Given the description of an element on the screen output the (x, y) to click on. 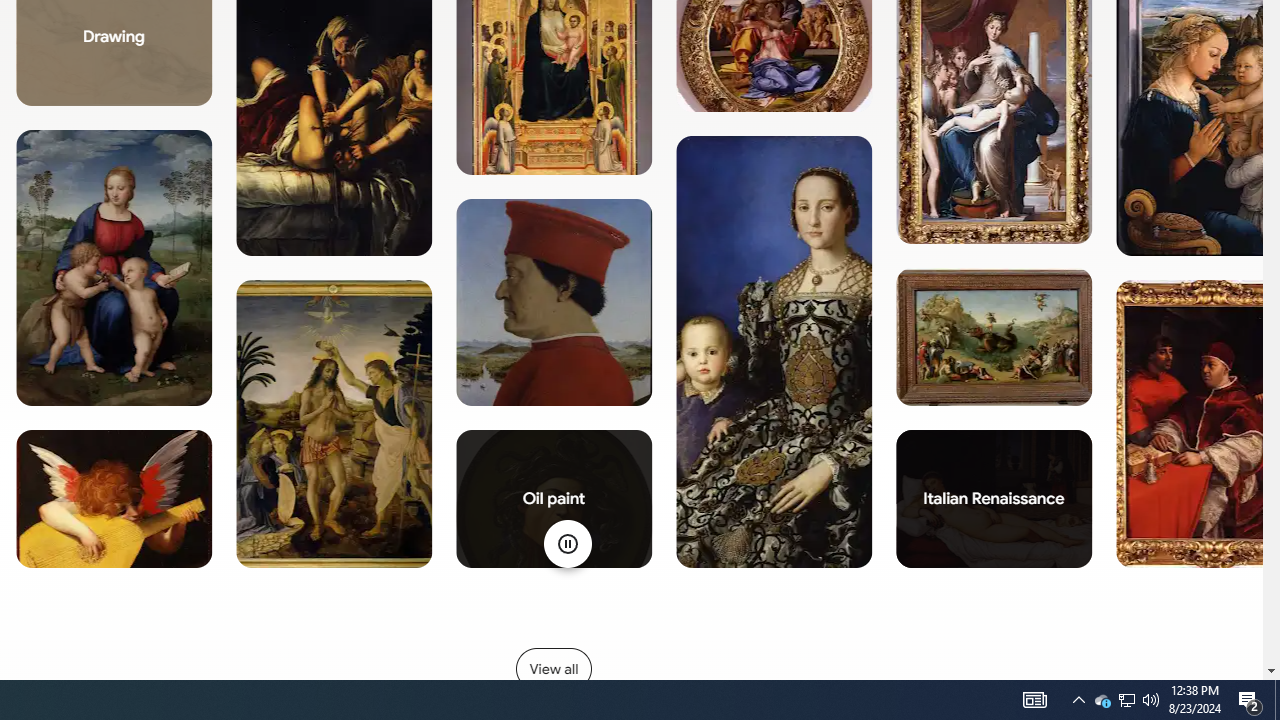
View all (553, 668)
Pause animation (566, 543)
